Given the description of an element on the screen output the (x, y) to click on. 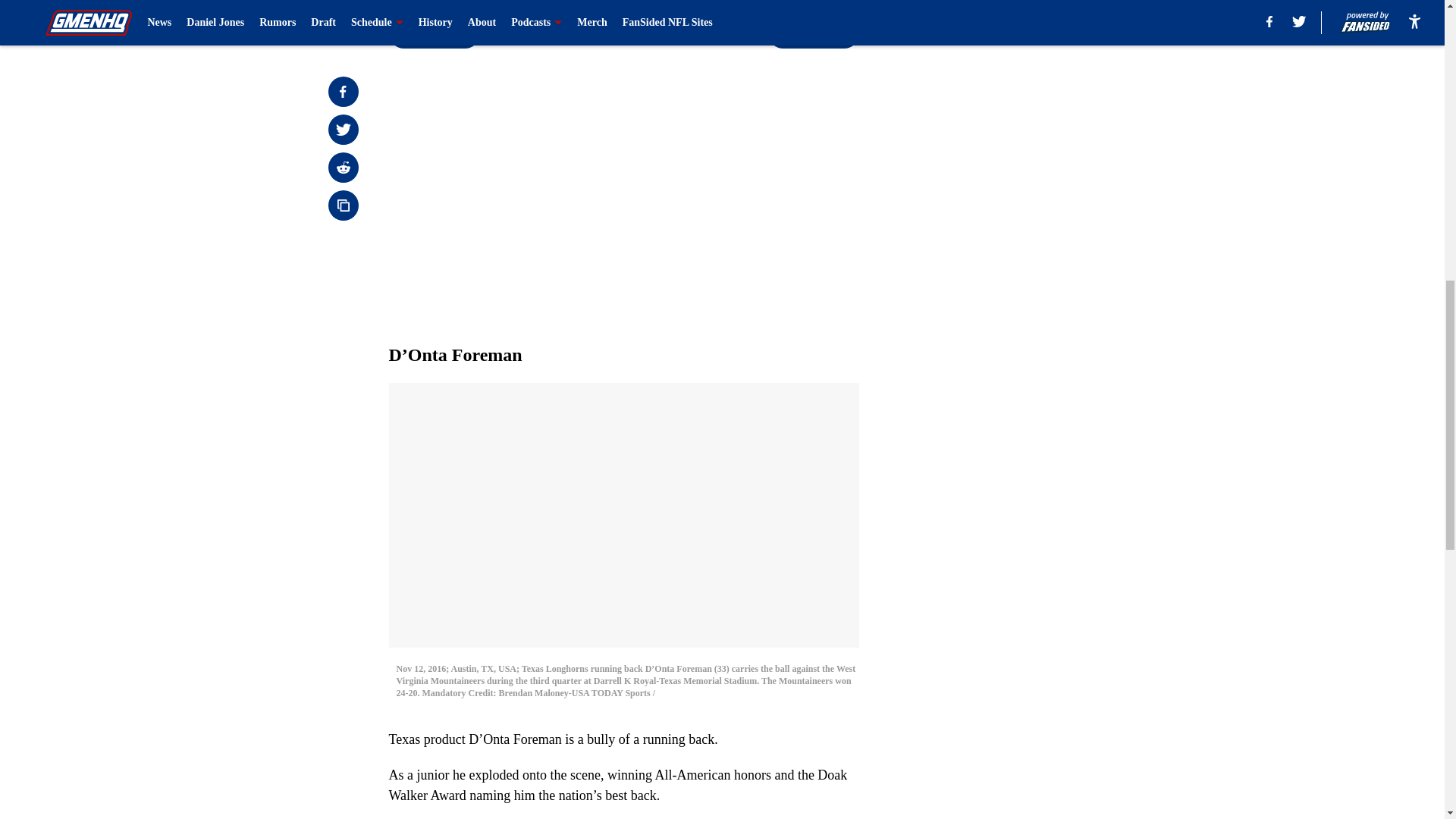
Prev (433, 33)
Next (813, 33)
